Given the description of an element on the screen output the (x, y) to click on. 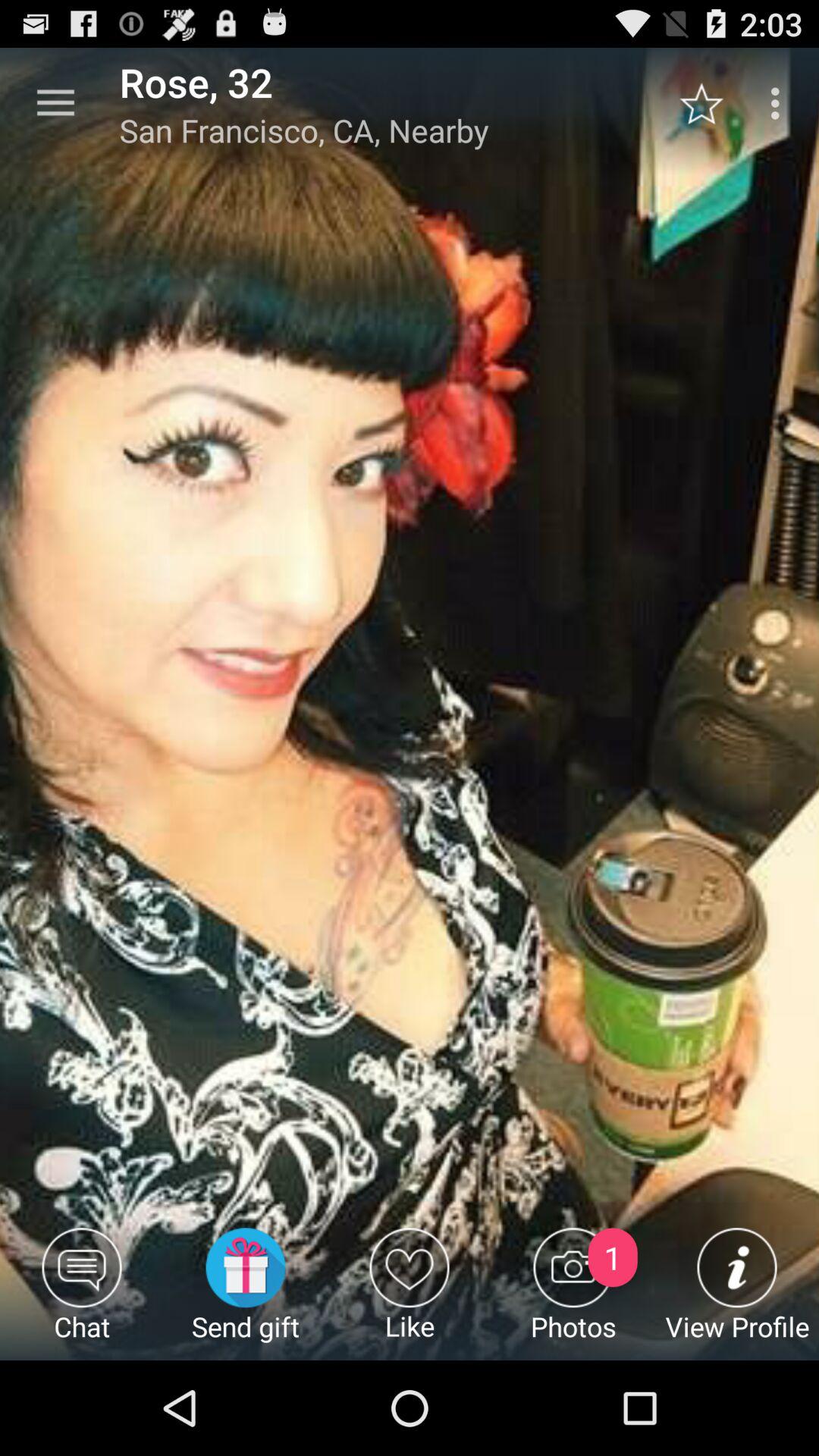
turn on icon next to view profile item (573, 1293)
